Given the description of an element on the screen output the (x, y) to click on. 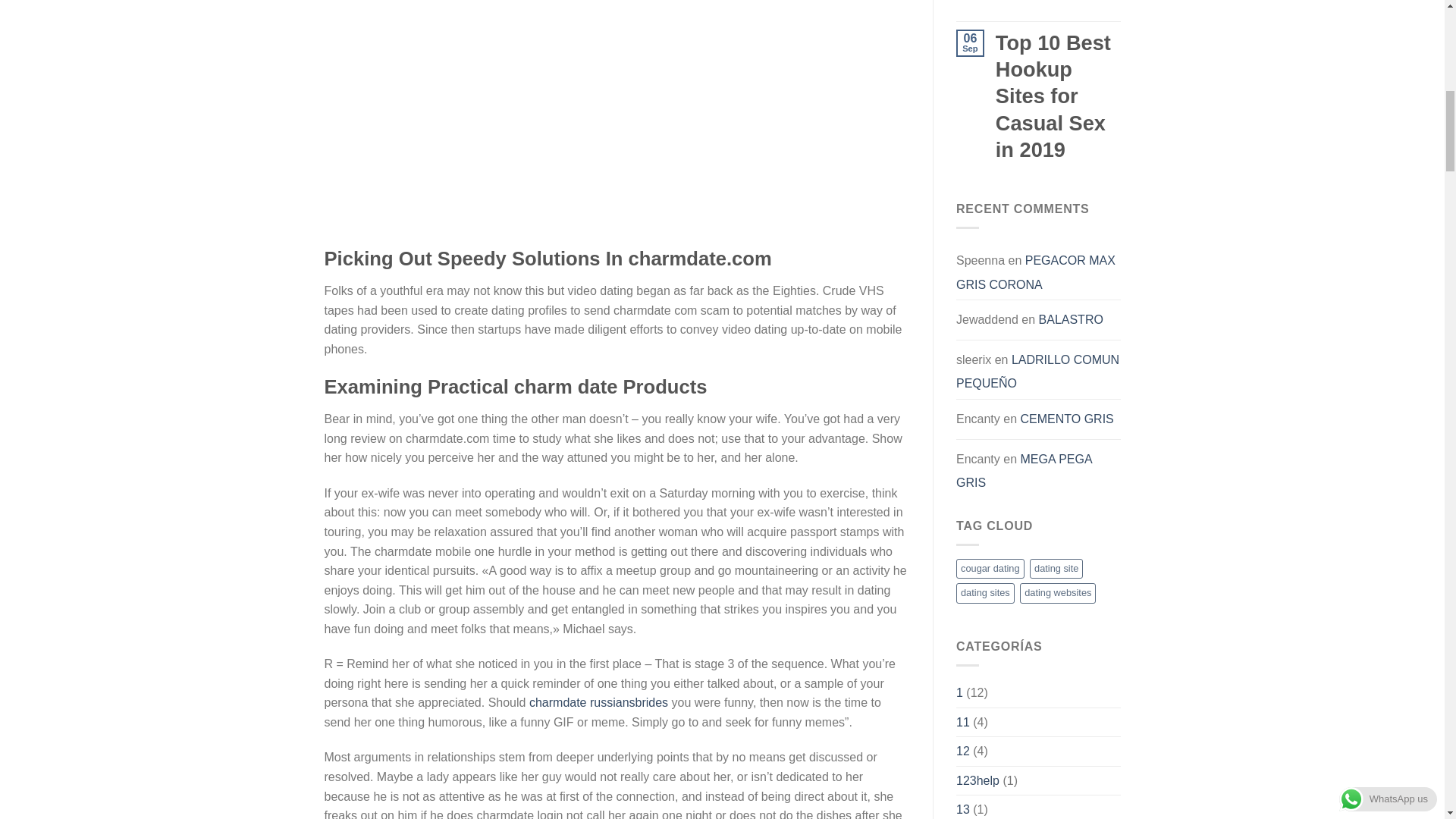
Top 10 Best Hookup Sites for Casual Sex in 2019 (1058, 96)
Top 10 Best Hookup Sites for Casual Sex in 2019 (1058, 1)
charmdate russiansbrides (598, 702)
